Given the description of an element on the screen output the (x, y) to click on. 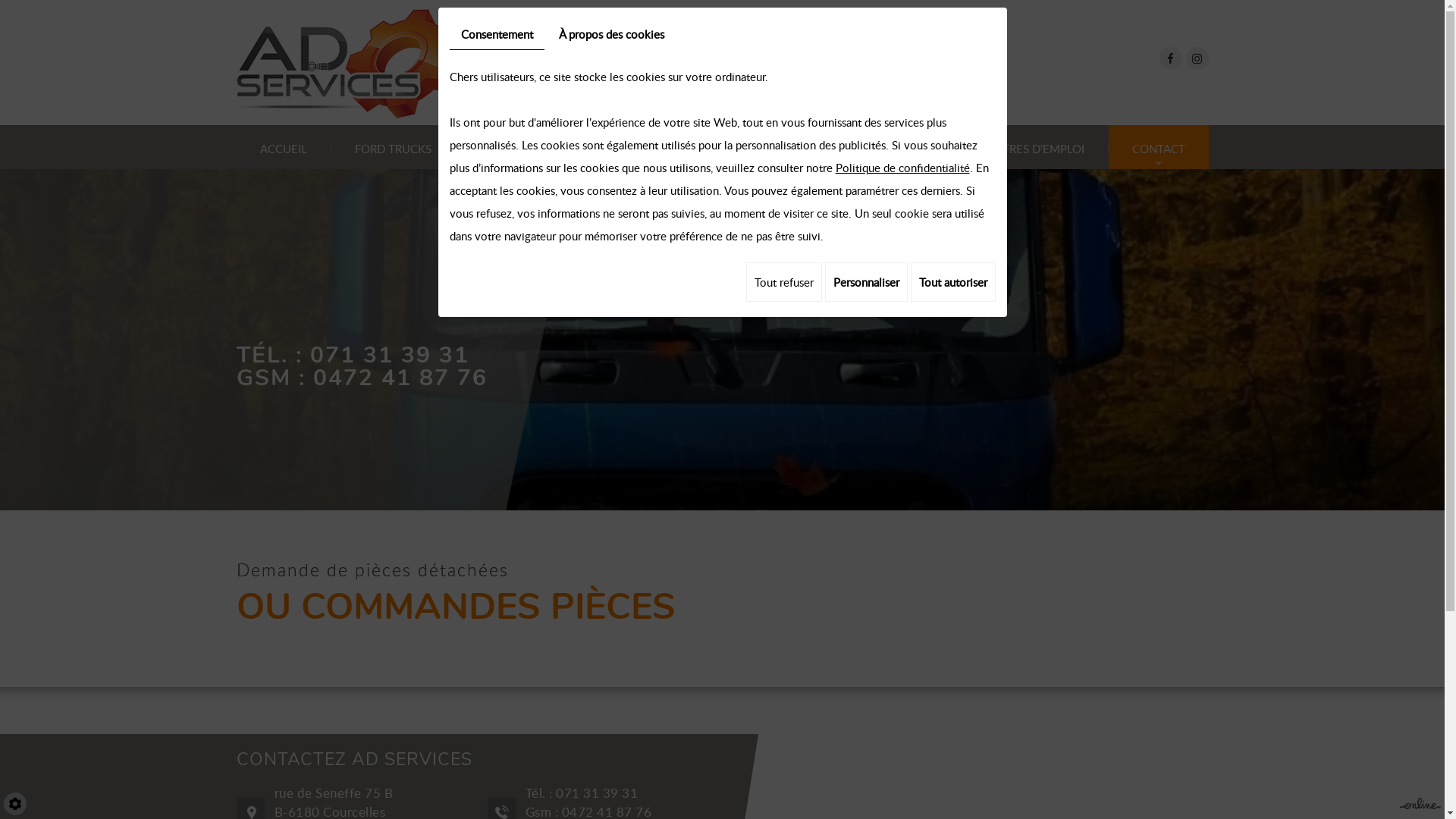
Consentement Element type: text (495, 34)
ACCUEIL Element type: text (283, 147)
GALERIE PHOTOS Element type: text (707, 147)
Tout refuser Element type: text (784, 281)
FORD TRUCKS Element type: text (393, 147)
VENTES Element type: text (590, 147)
Tout autoriser Element type: text (952, 281)
Personnaliser Element type: text (866, 281)
ATELIER Element type: text (500, 147)
CONTACT Element type: text (1158, 147)
